Given the description of an element on the screen output the (x, y) to click on. 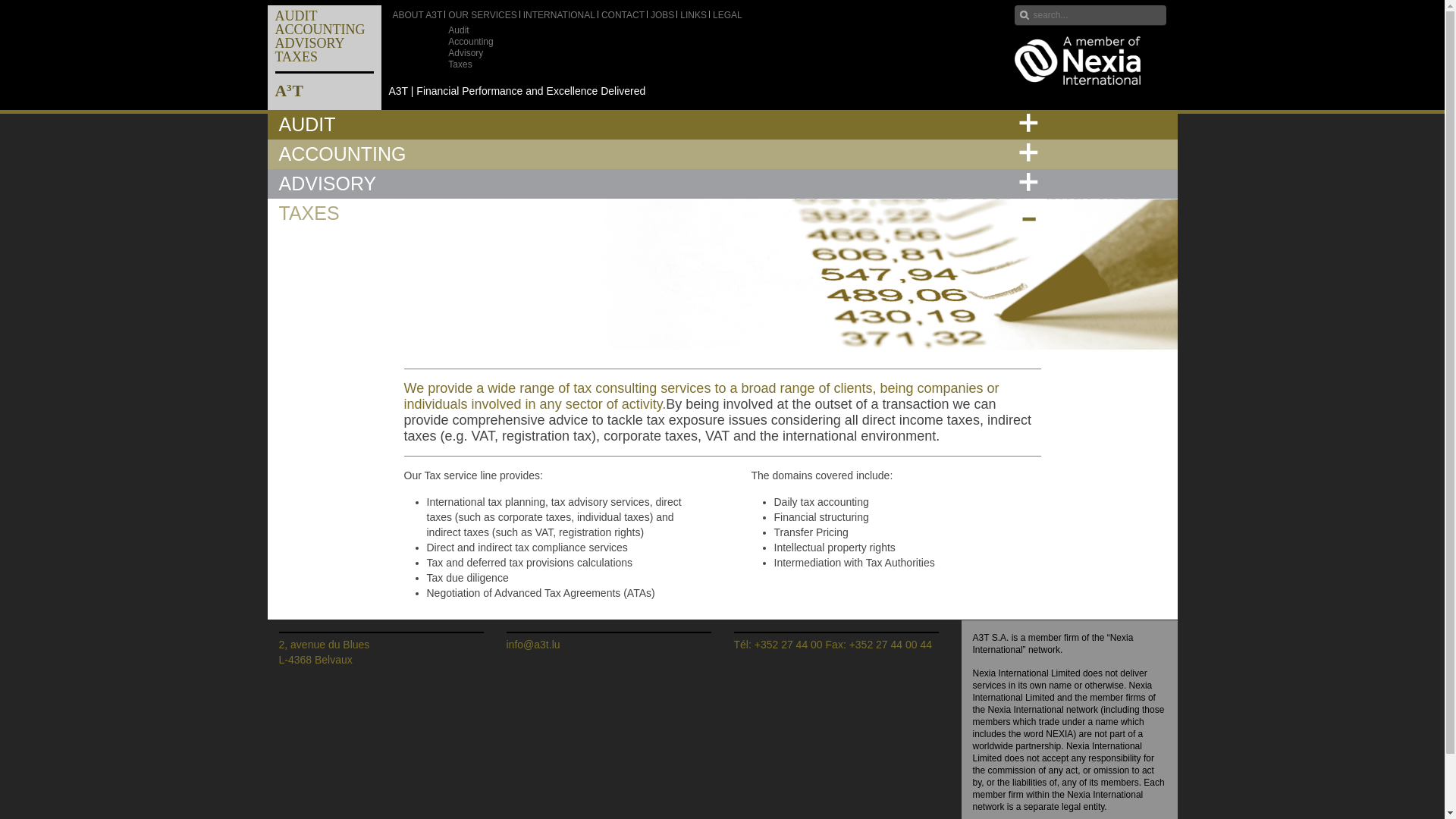
ABOUT A3T (417, 14)
Advisory (465, 52)
about a3t (417, 14)
OUR SERVICES (482, 14)
INTERNATIONAL (558, 14)
Audit (458, 30)
JOBS (662, 14)
Taxes (459, 64)
CONTACT (327, 60)
Accounting (623, 14)
LINKS (470, 41)
Reset (692, 14)
LEGAL (3, 2)
